Given the description of an element on the screen output the (x, y) to click on. 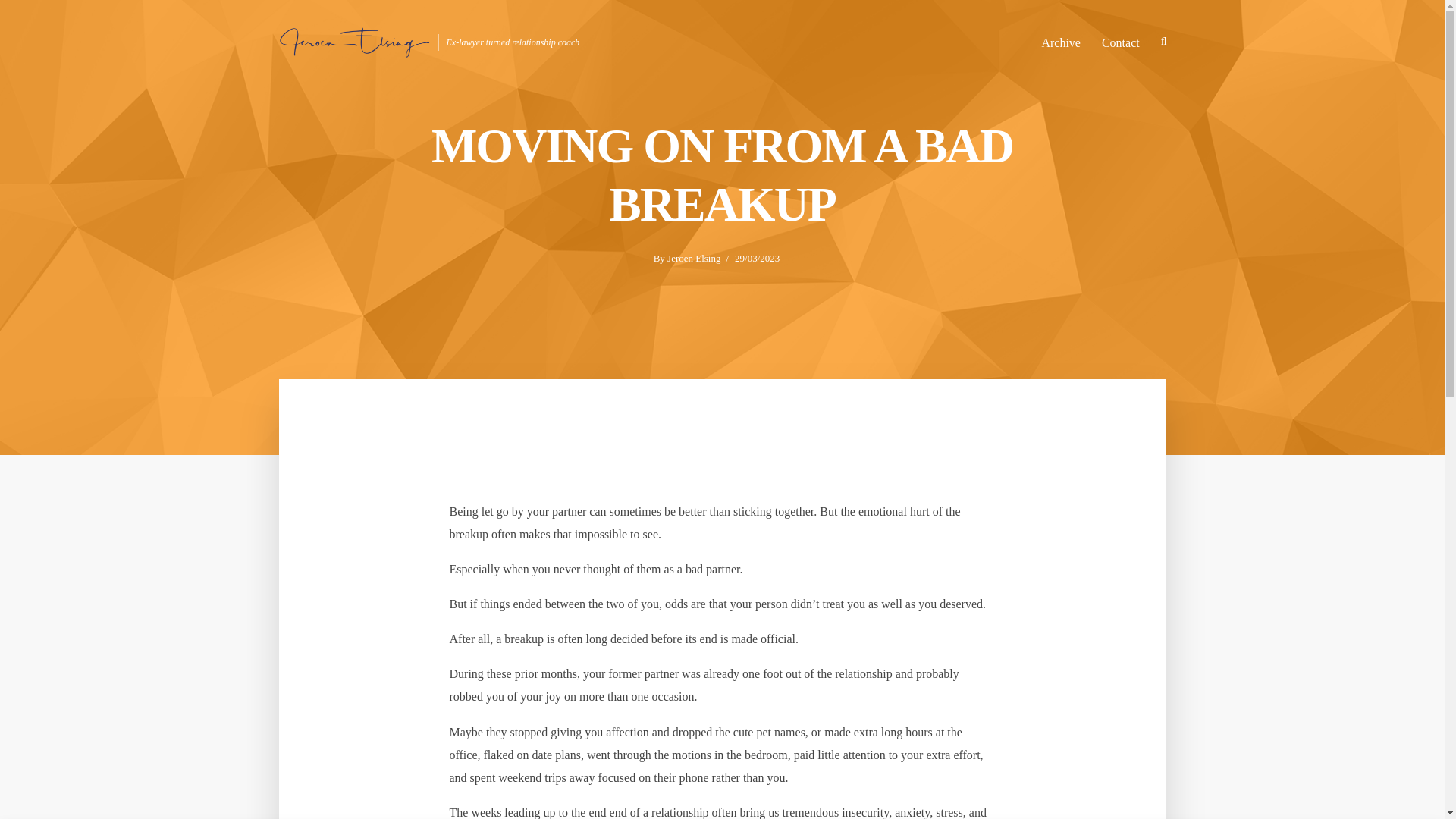
Jeroen Elsing (693, 259)
Contact (1120, 41)
Archive (1060, 41)
